Given the description of an element on the screen output the (x, y) to click on. 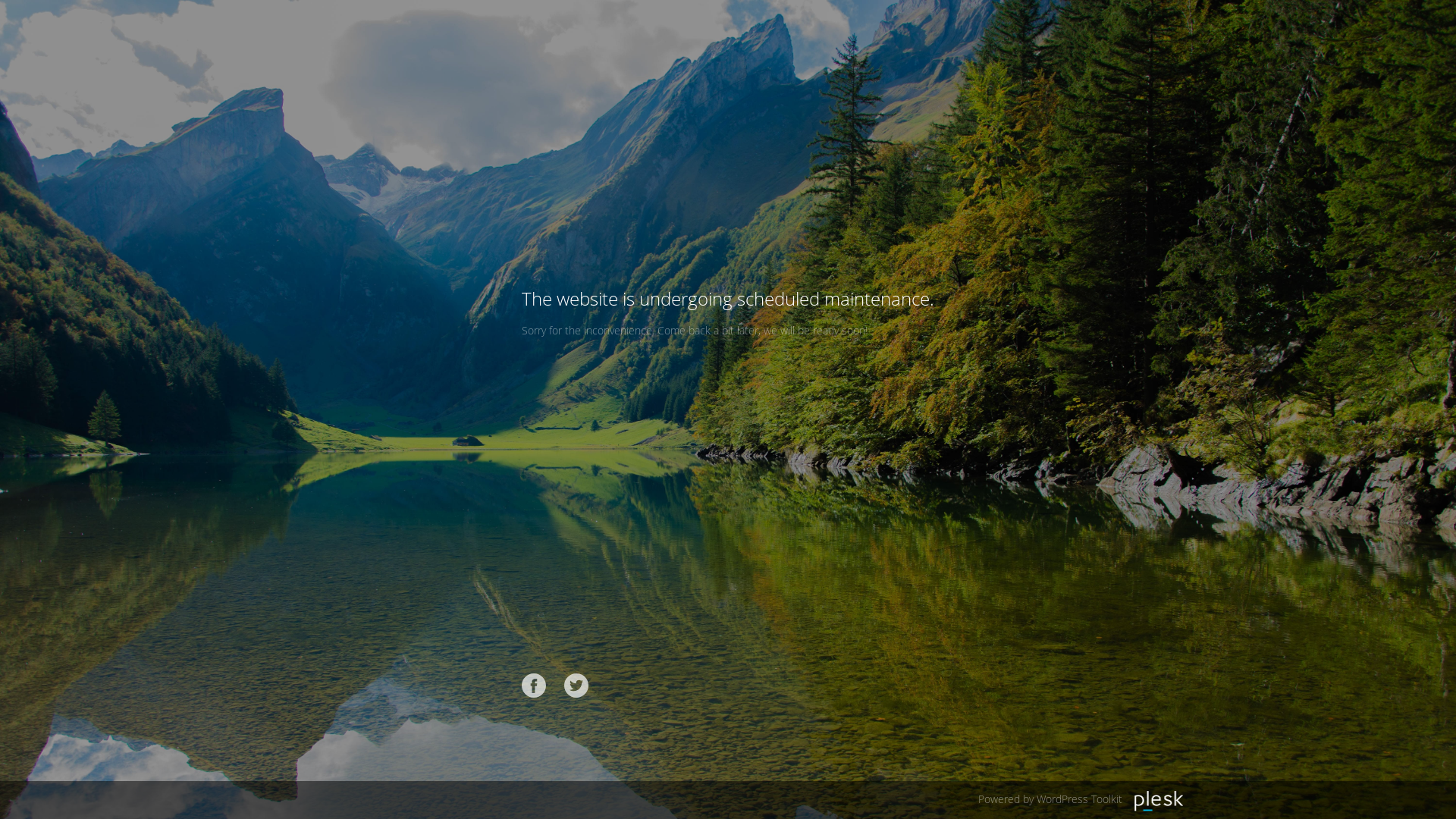
Facebook Element type: hover (533, 685)
Twitter Element type: hover (576, 685)
